Given the description of an element on the screen output the (x, y) to click on. 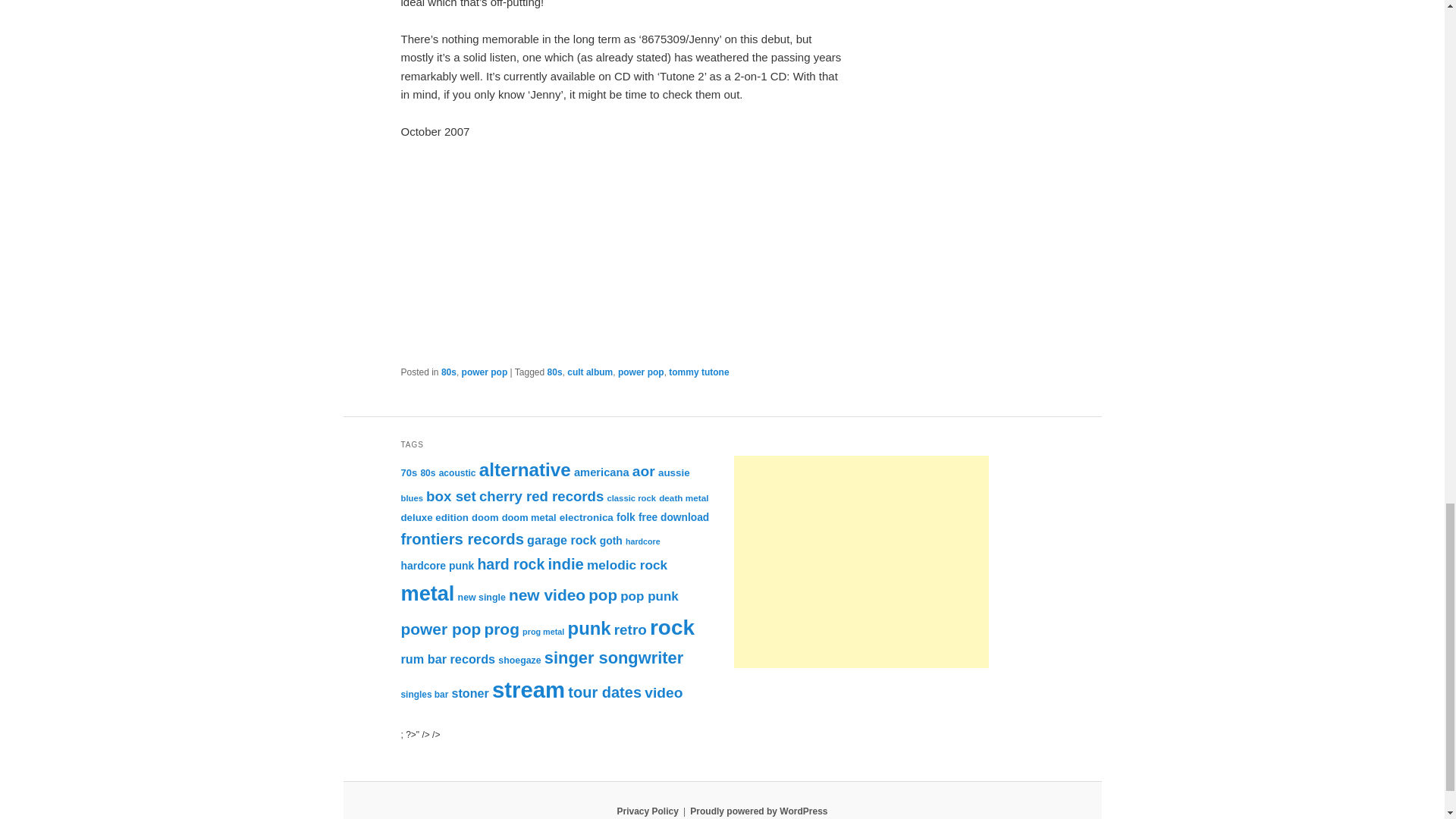
americana (600, 472)
death metal (683, 497)
blues (411, 497)
aussie (674, 472)
alternative (524, 469)
cult album (589, 371)
tommy tutone (698, 371)
Semantic Personal Publishing Platform (758, 810)
classic rock (631, 497)
70s (408, 472)
80s (449, 371)
box set (451, 496)
power pop (484, 371)
80s (554, 371)
cherry red records (541, 496)
